Given the description of an element on the screen output the (x, y) to click on. 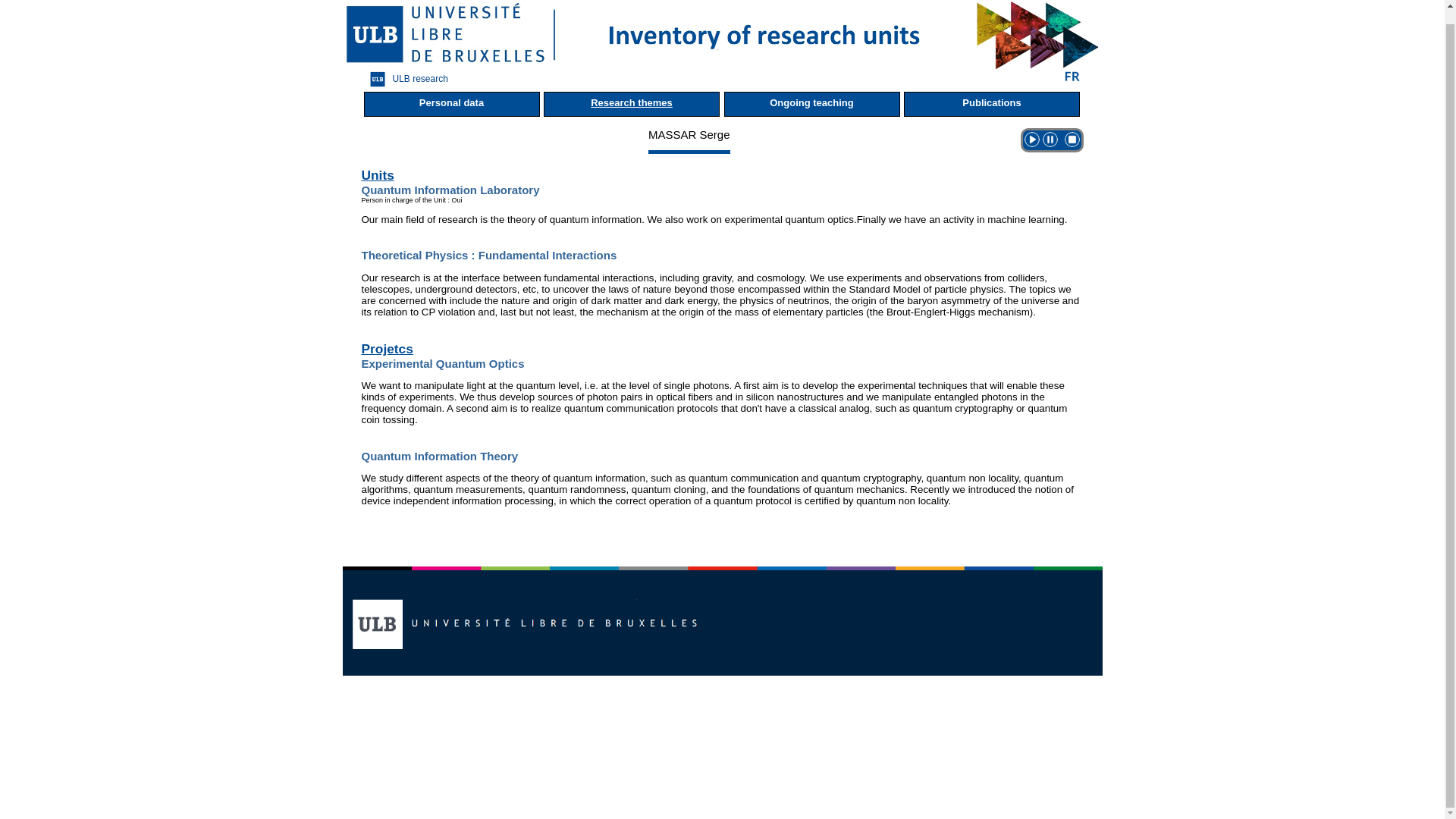
Quantum Information Laboratory (449, 189)
Quantum Information Theory (439, 455)
Experimental Quantum Optics (442, 363)
Personal data (452, 104)
ULB research (406, 78)
Theoretical Physics : Fundamental Interactions (488, 254)
Research themes (631, 104)
